Given the description of an element on the screen output the (x, y) to click on. 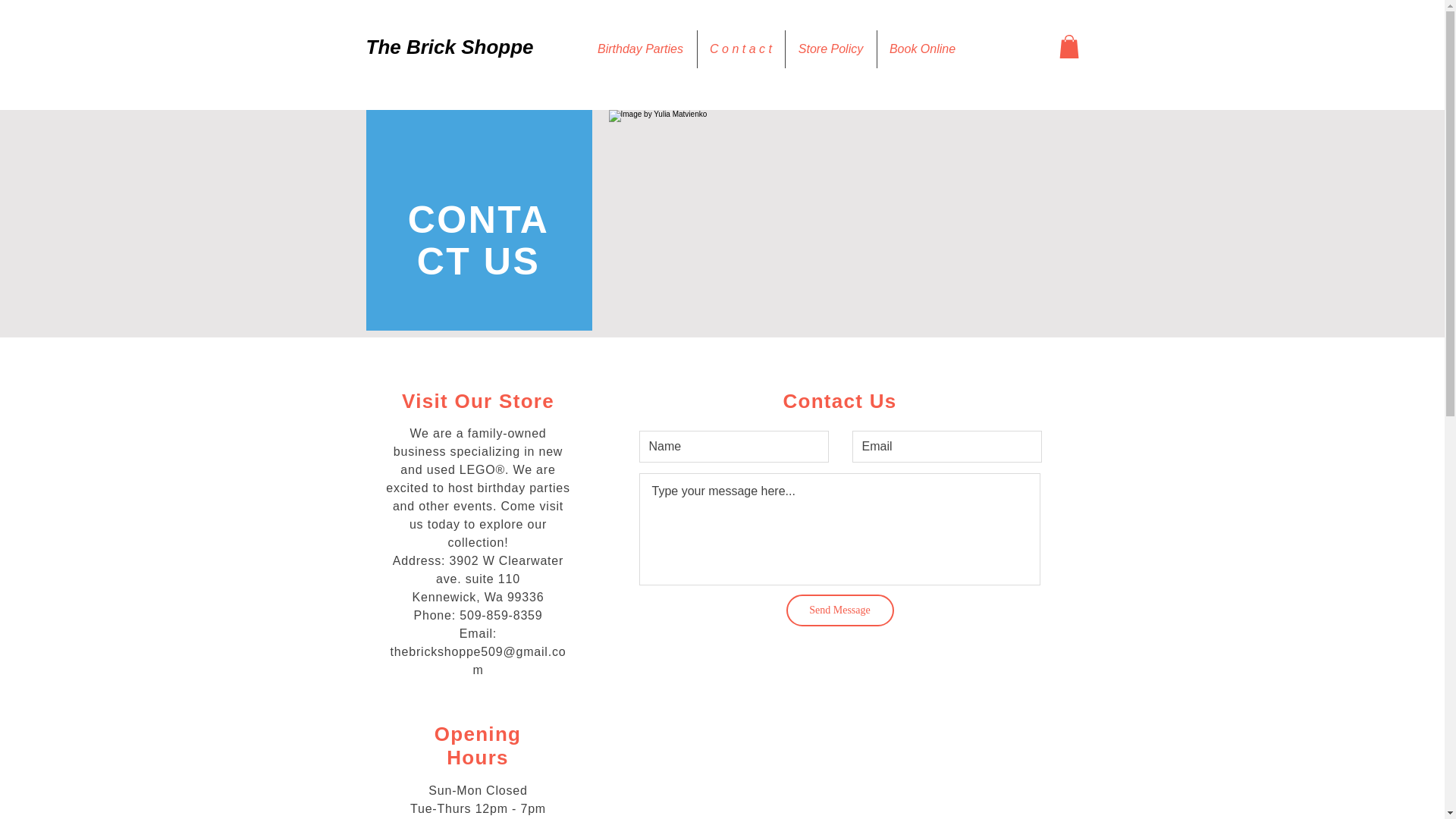
Store Policy (831, 48)
Birthday Parties (639, 48)
The Brick Shoppe (448, 47)
Send Message (839, 610)
C o n t a c t (740, 48)
Book Online (922, 48)
